Given the description of an element on the screen output the (x, y) to click on. 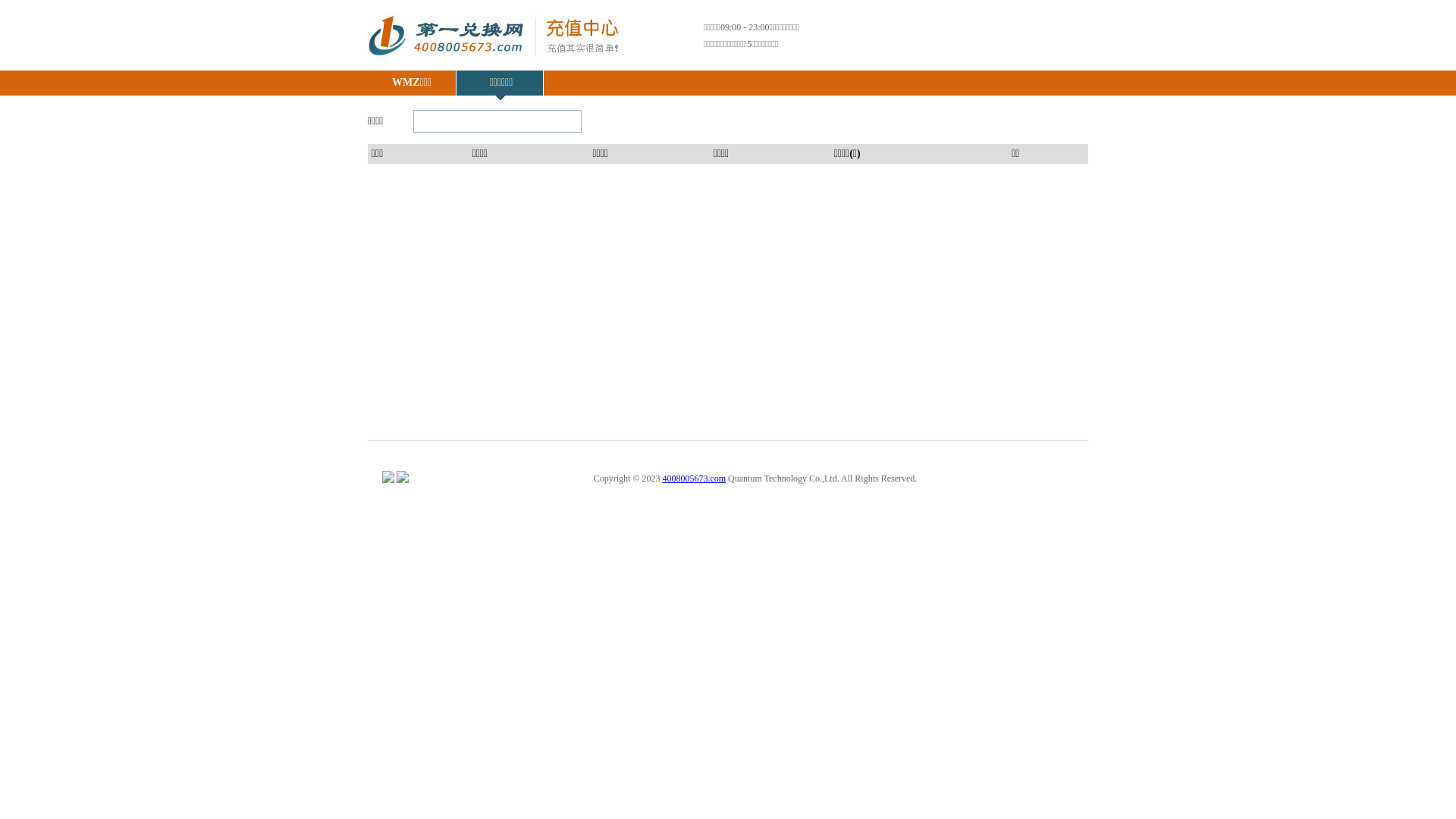
4008005673.com Element type: text (693, 478)
